Given the description of an element on the screen output the (x, y) to click on. 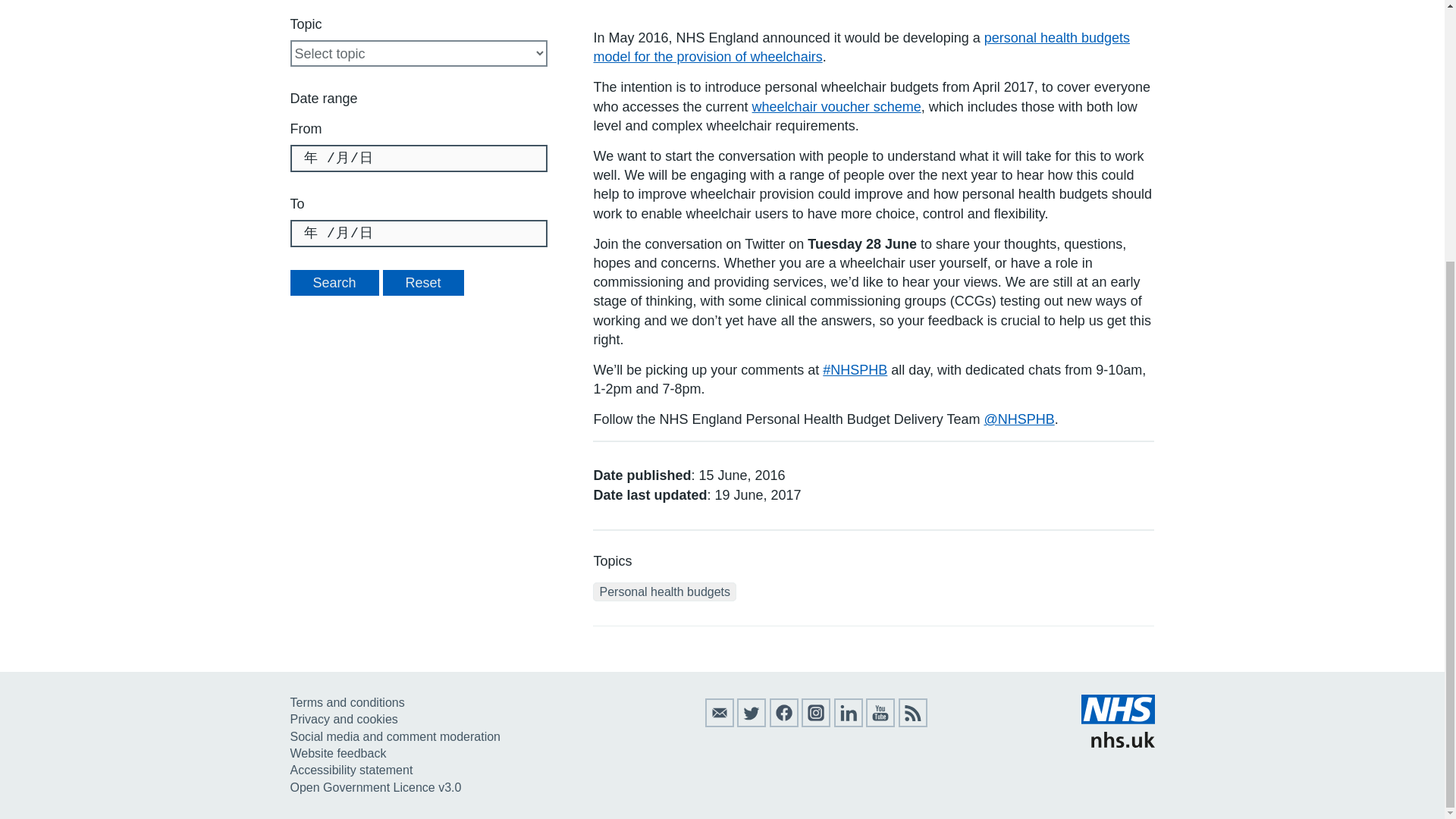
Social media and comment moderation (394, 736)
Follow us on Facebook (783, 722)
Sign up to our email bulletins (718, 722)
Terms and conditions (346, 702)
Follow us on Twitter (750, 722)
Find us on Instagram (815, 722)
Open Government Licence v3.0 (375, 787)
Reset (423, 282)
Search (333, 282)
Personal health budgets (664, 591)
